Given the description of an element on the screen output the (x, y) to click on. 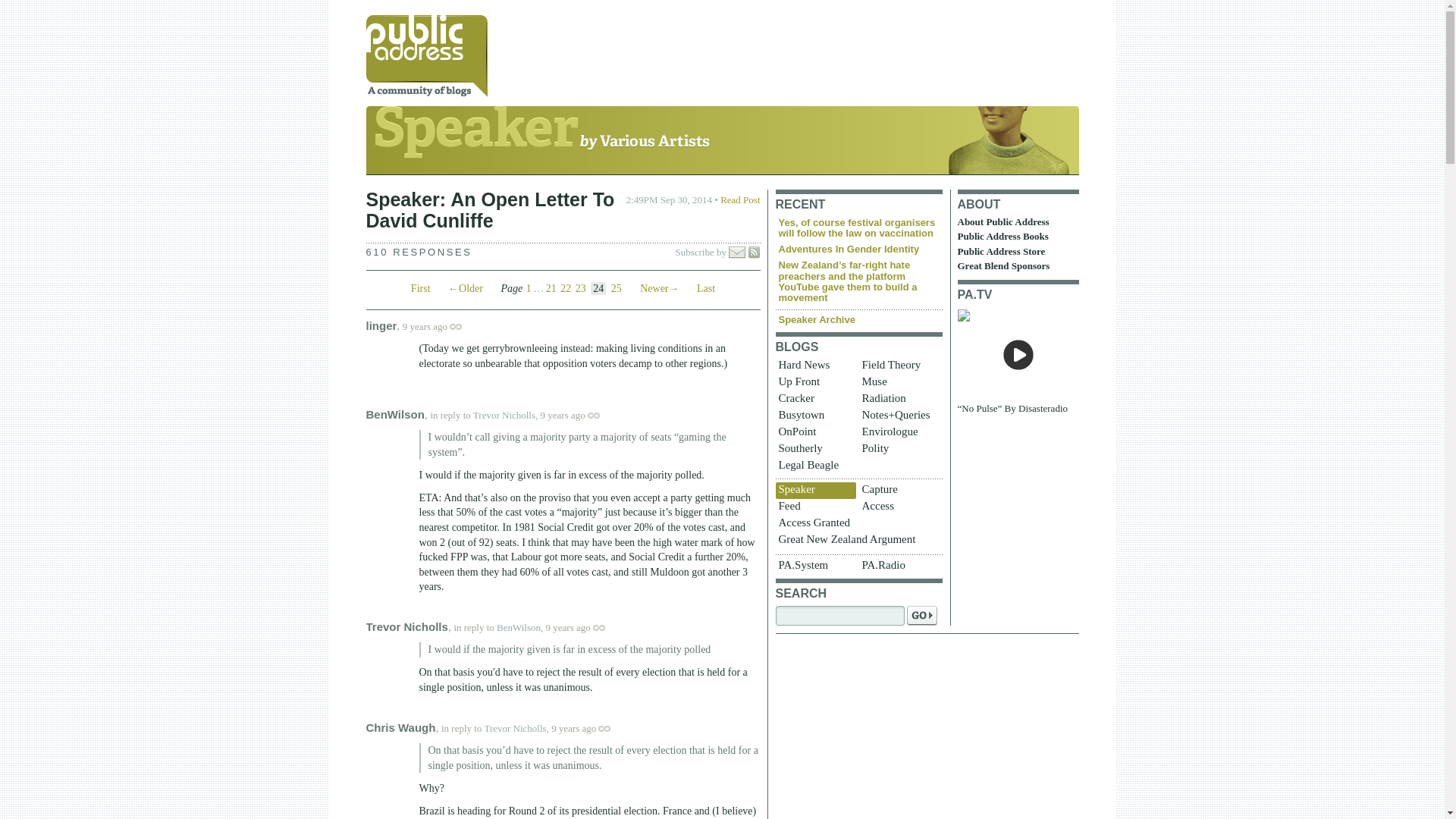
17:59 Oct 6, 2014 (568, 627)
Read Post (740, 199)
22 (565, 287)
17:44 Oct 6, 2014 (562, 414)
9 years ago (588, 727)
Chris Waugh (400, 727)
Trevor Nicholls, (505, 414)
Trevor Nicholls, (515, 727)
9 years ago (583, 627)
23 (580, 287)
